Given the description of an element on the screen output the (x, y) to click on. 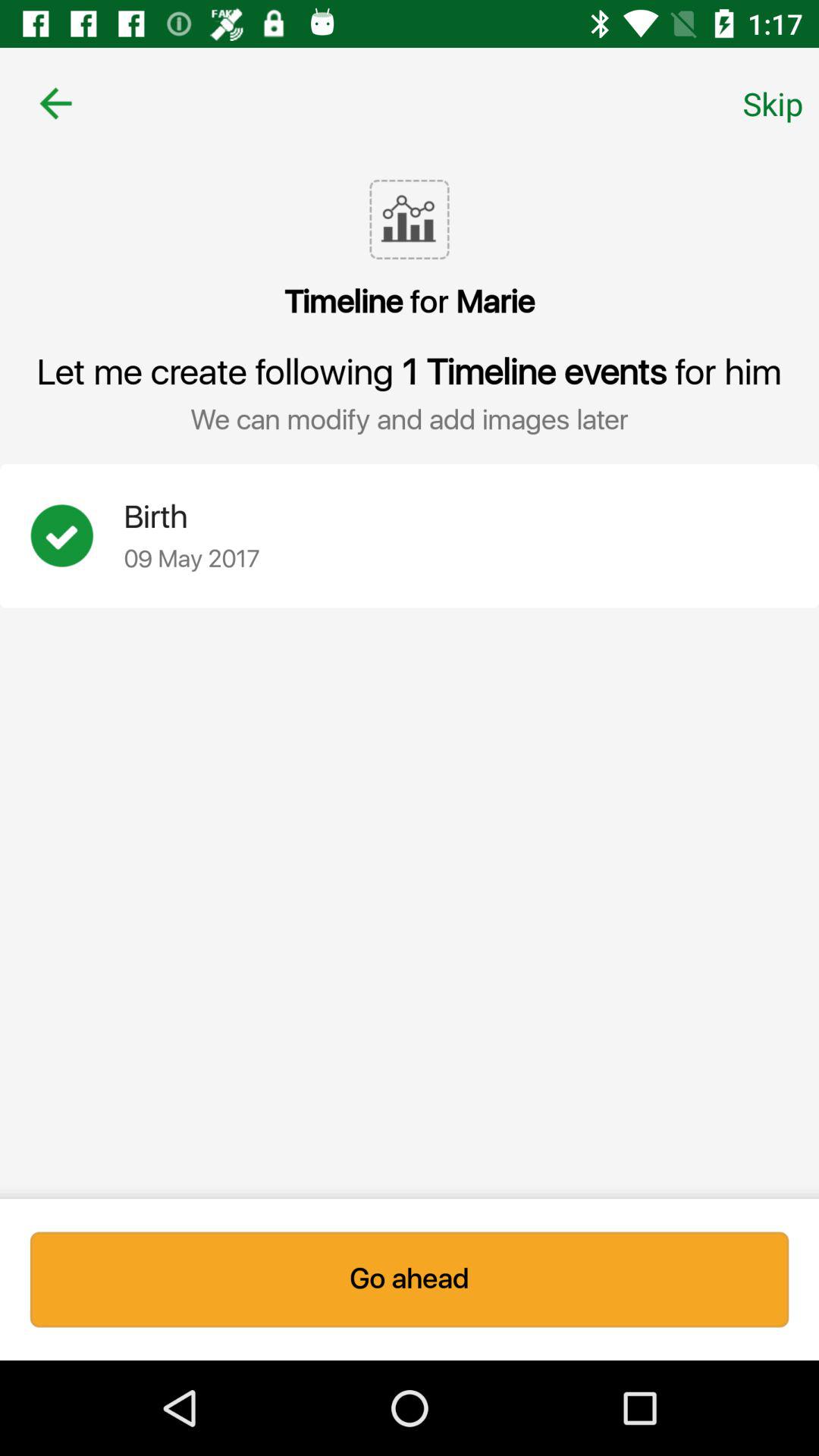
select skip icon (772, 103)
